Given the description of an element on the screen output the (x, y) to click on. 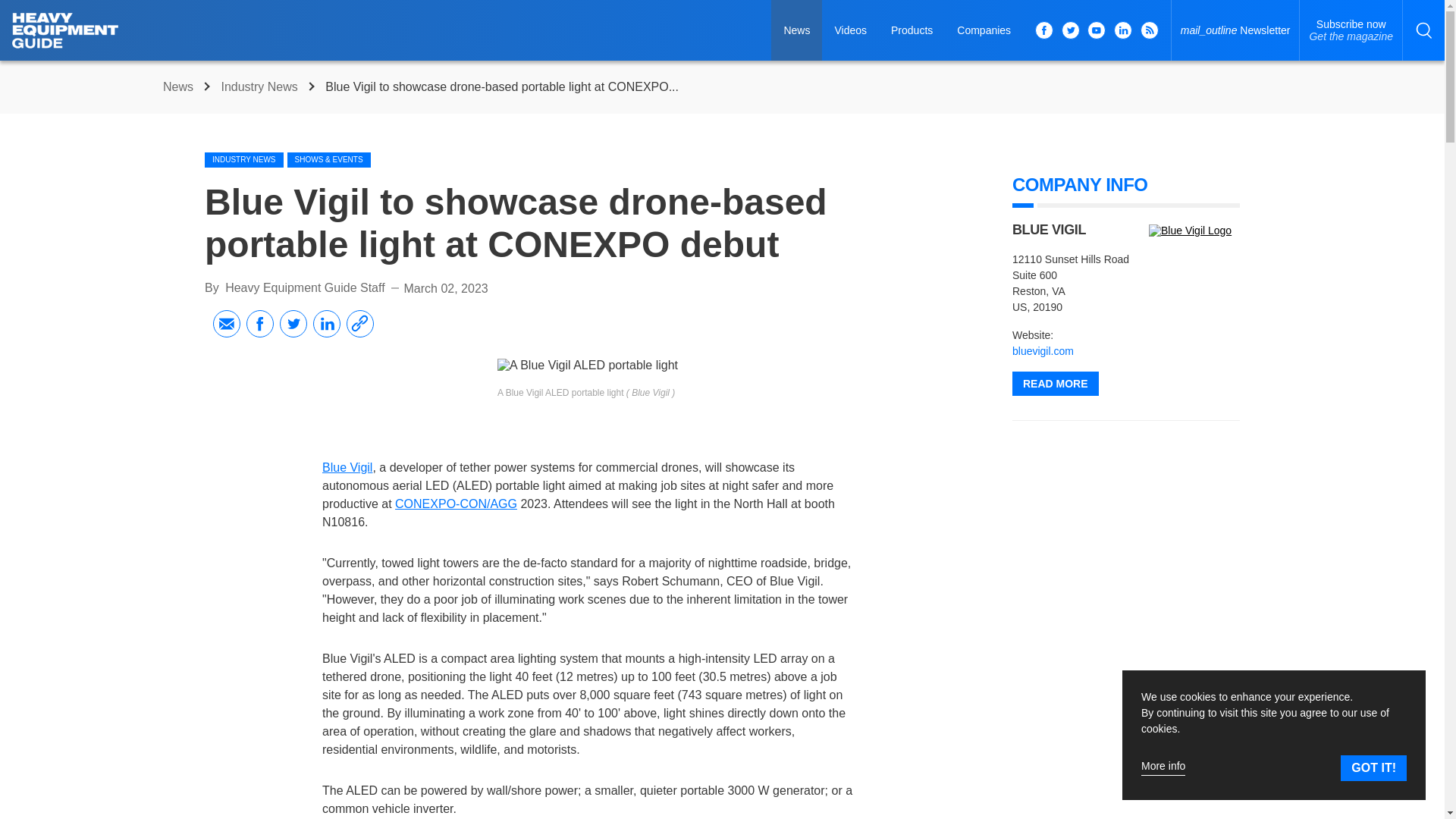
Blue Vigil (1351, 30)
Industry News (346, 467)
News (261, 86)
Blue Vigil (179, 86)
Companies (1194, 230)
A Blue Vigil ALED portable light (983, 30)
Products (587, 365)
READ MORE (911, 30)
INDUSTRY NEWS (1055, 383)
Heavy Equipment Guide Staff (244, 159)
bluevigil.com (305, 287)
Videos (1042, 350)
BLUE VIGIL (850, 30)
